Given the description of an element on the screen output the (x, y) to click on. 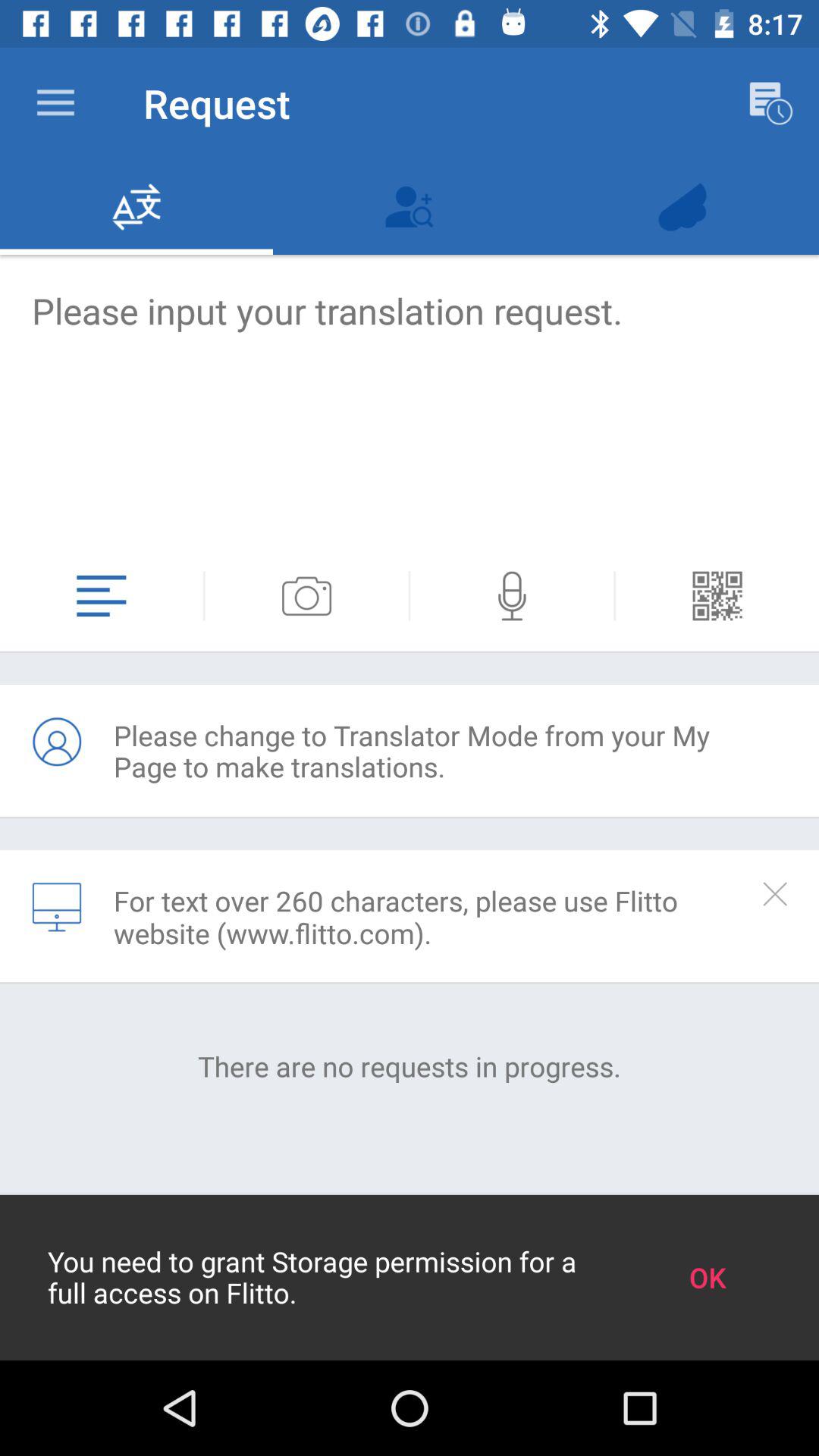
attach photo (306, 596)
